Given the description of an element on the screen output the (x, y) to click on. 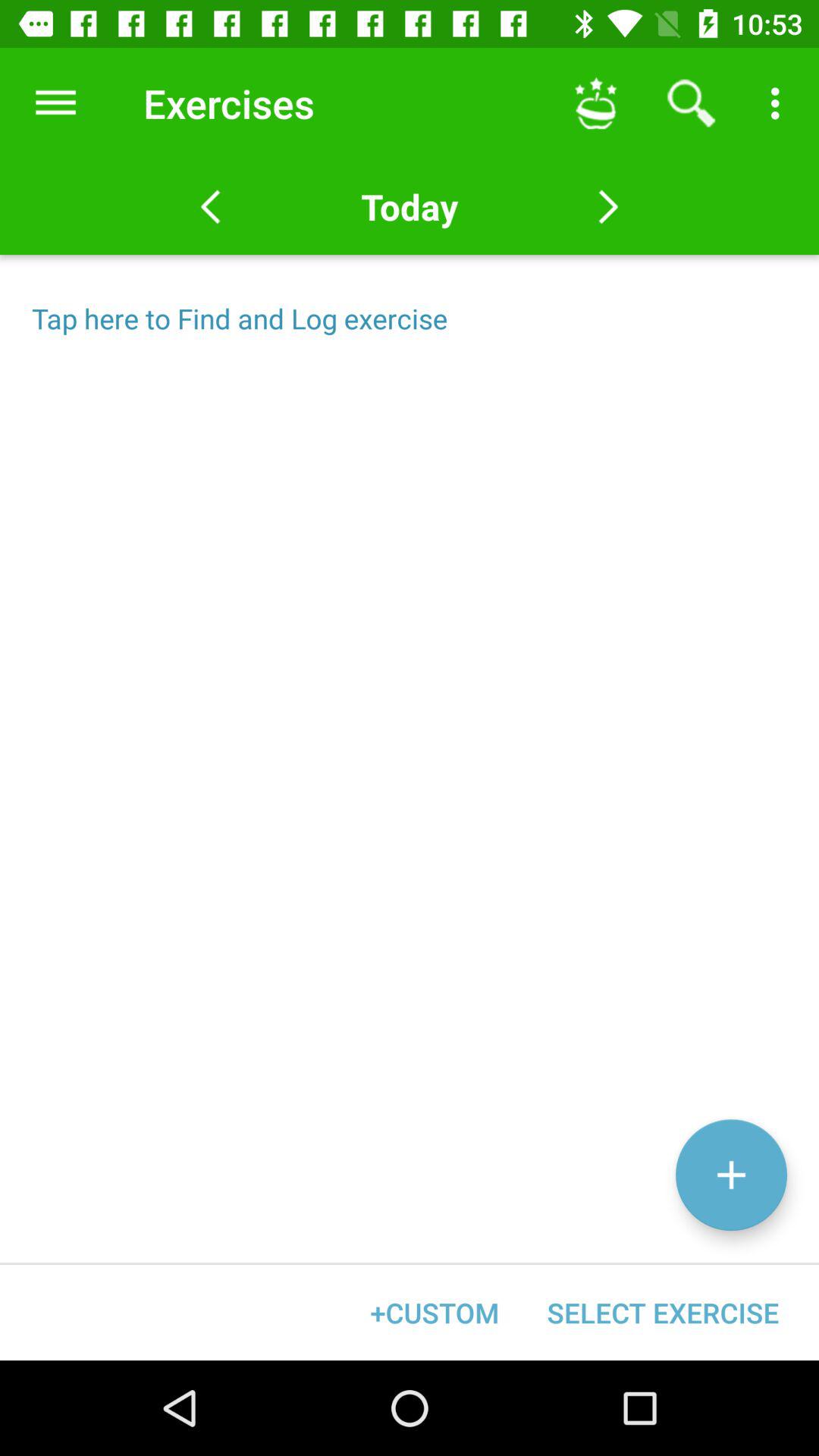
choose the item above the today icon (595, 103)
